Given the description of an element on the screen output the (x, y) to click on. 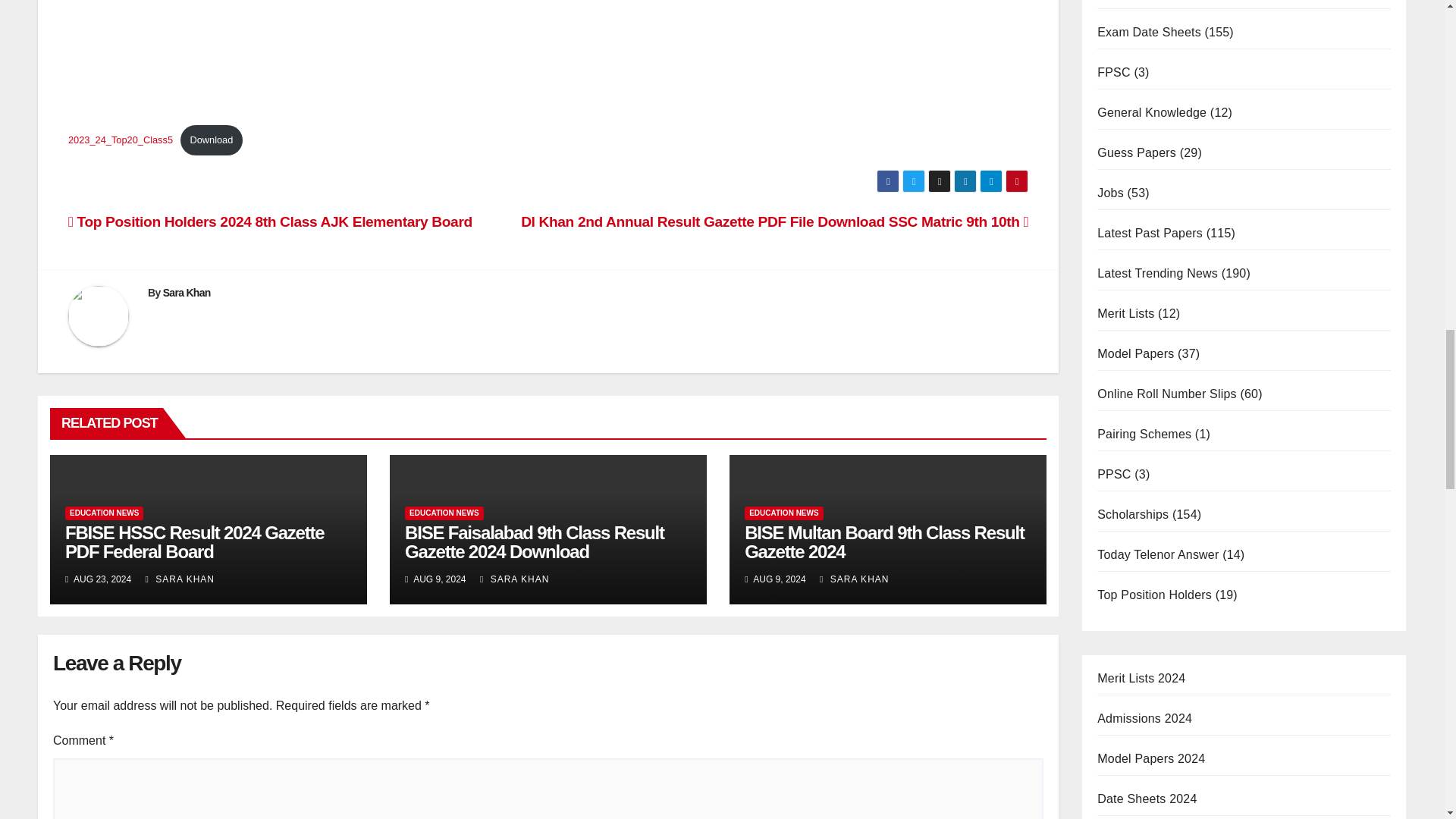
Download (211, 140)
